Given the description of an element on the screen output the (x, y) to click on. 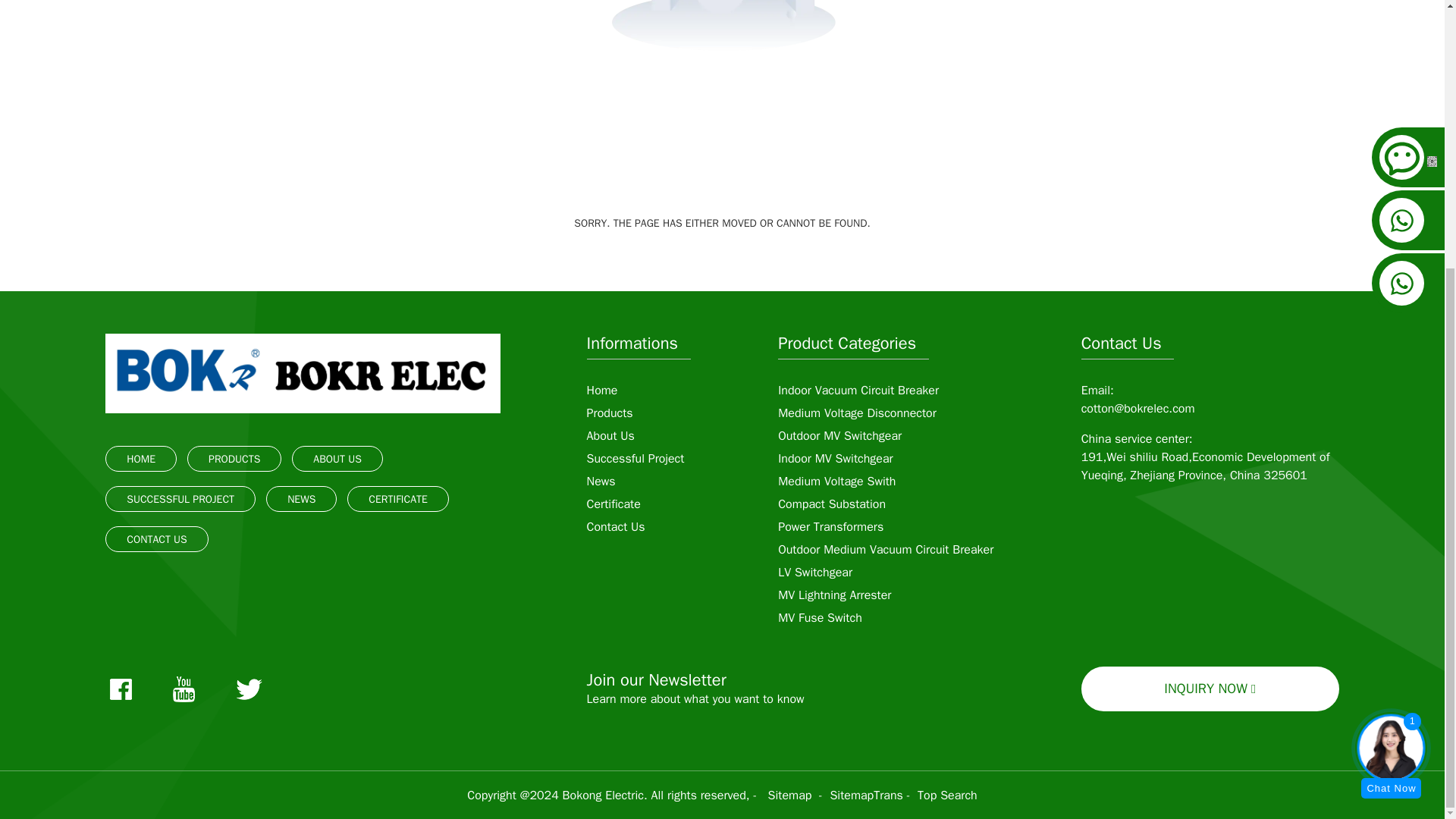
NEWS (300, 499)
Certificate (613, 503)
ABOUT US (337, 459)
Home (601, 390)
CERTIFICATE (398, 499)
CONTACT US (156, 539)
SUCCESSFUL PROJECT (180, 499)
Successful Project (635, 458)
About Us (610, 435)
PRODUCTS (234, 459)
